Given the description of an element on the screen output the (x, y) to click on. 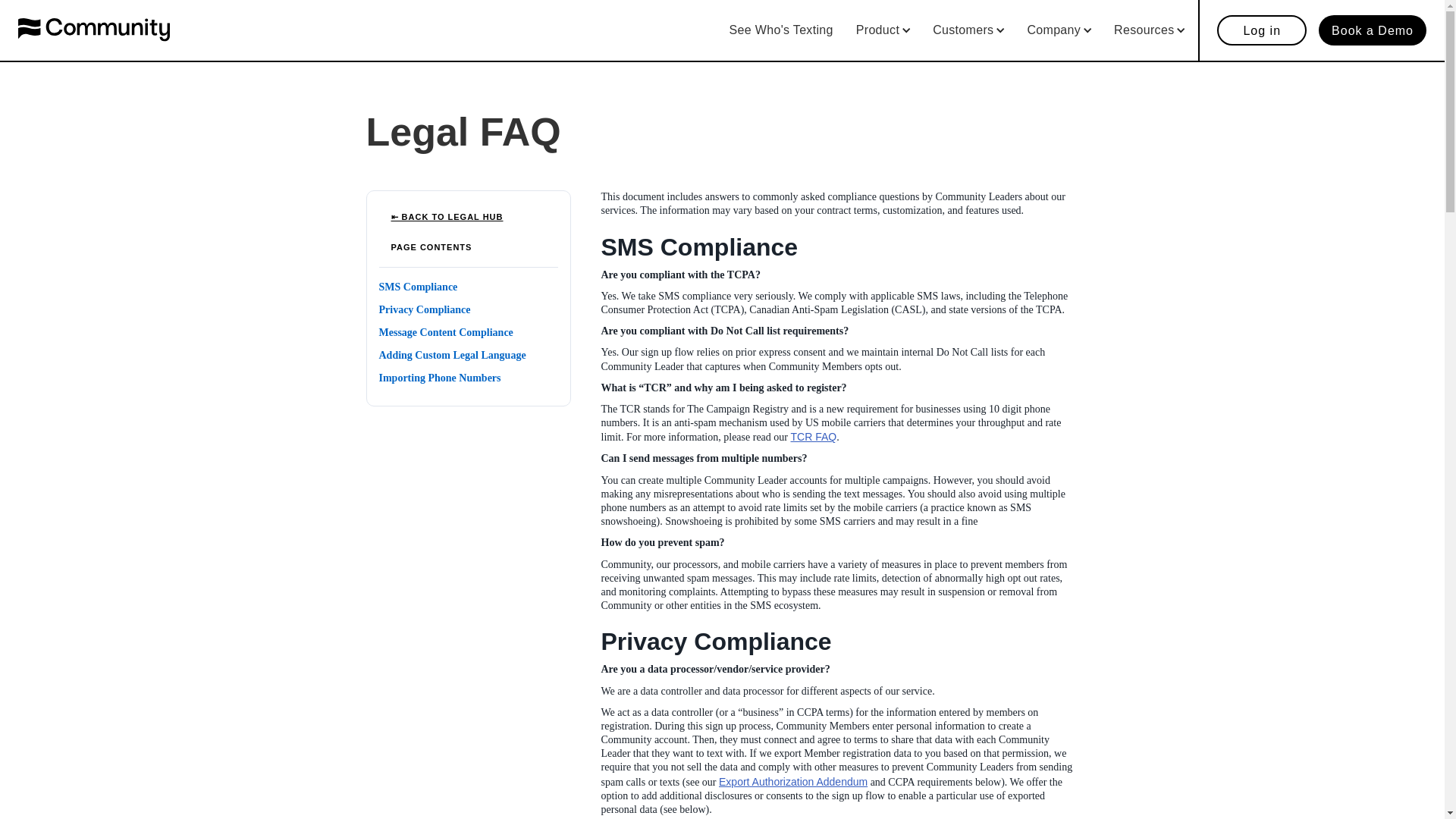
Message Content Compliance (467, 336)
Export Authorization Addendum (793, 781)
Privacy Compliance (467, 313)
Importing Phone Numbers (467, 382)
TCR FAQ (812, 436)
Log in (1261, 30)
See Who's Texting (781, 30)
Adding Custom Legal Language (467, 359)
SMS Compliance (467, 291)
Book a Demo (1372, 30)
